Given the description of an element on the screen output the (x, y) to click on. 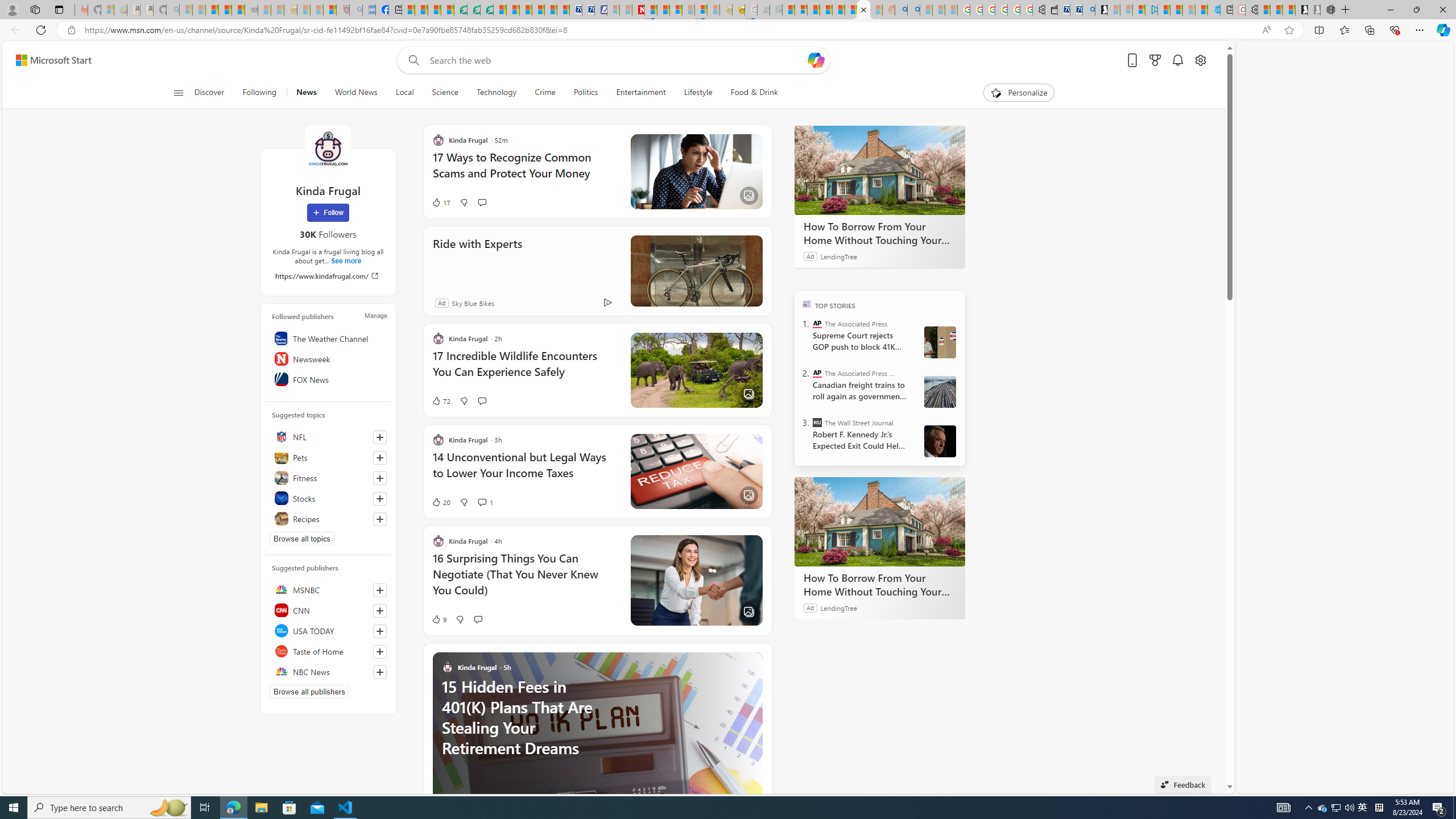
The Associated Press (816, 323)
Robert H. Shmerling, MD - Harvard Health - Sleeping (342, 9)
View comments 1 Comment (485, 502)
Microsoft rewards (1154, 60)
Browse all publishers (309, 691)
Address and search bar (669, 29)
14 Unconventional but Legal Ways to Lower Your Income Taxes (524, 470)
Start the conversation (477, 619)
Open settings (1199, 60)
Feedback (1182, 784)
